Given the description of an element on the screen output the (x, y) to click on. 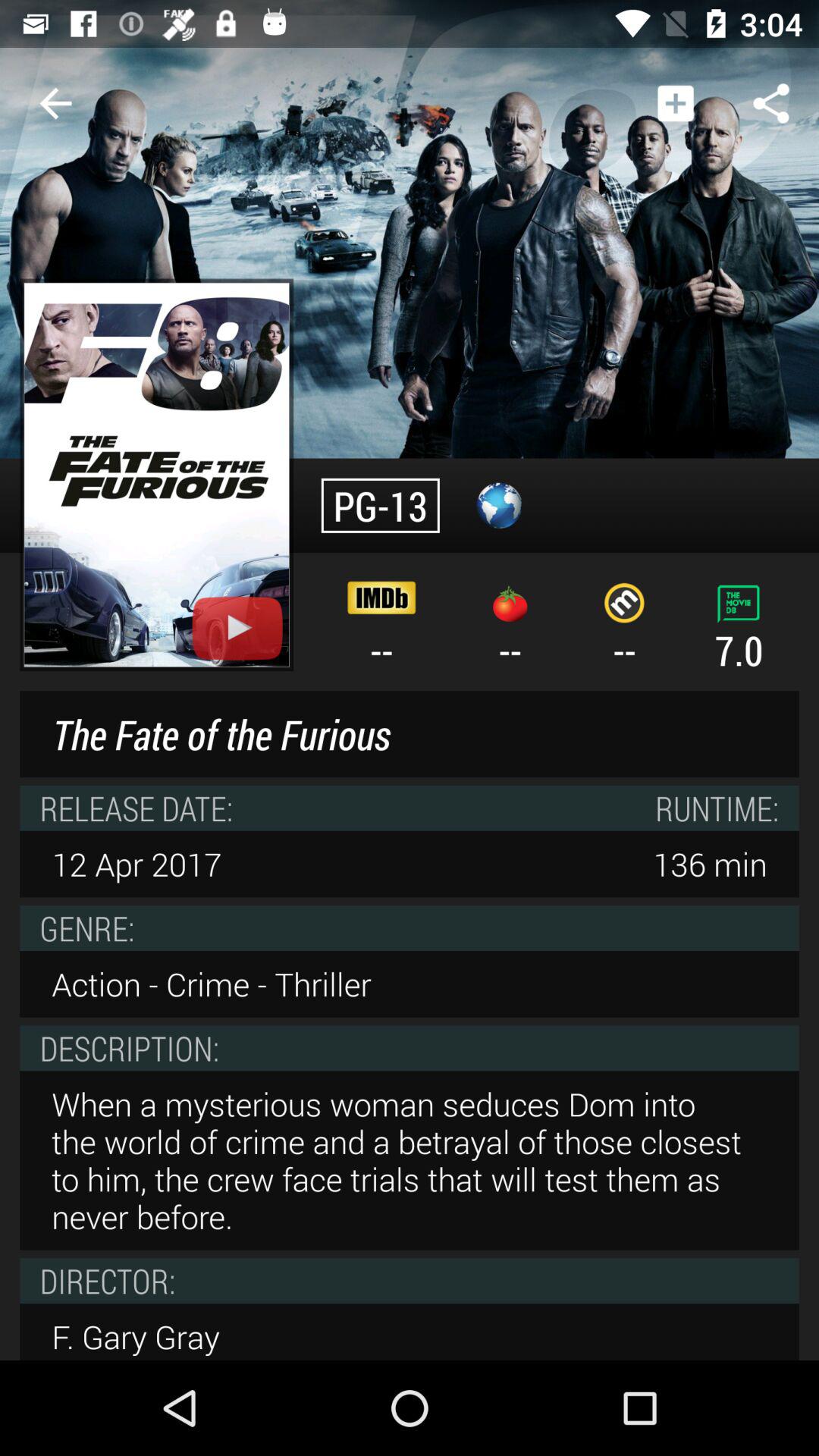
tap item to the left of -- (156, 474)
